Given the description of an element on the screen output the (x, y) to click on. 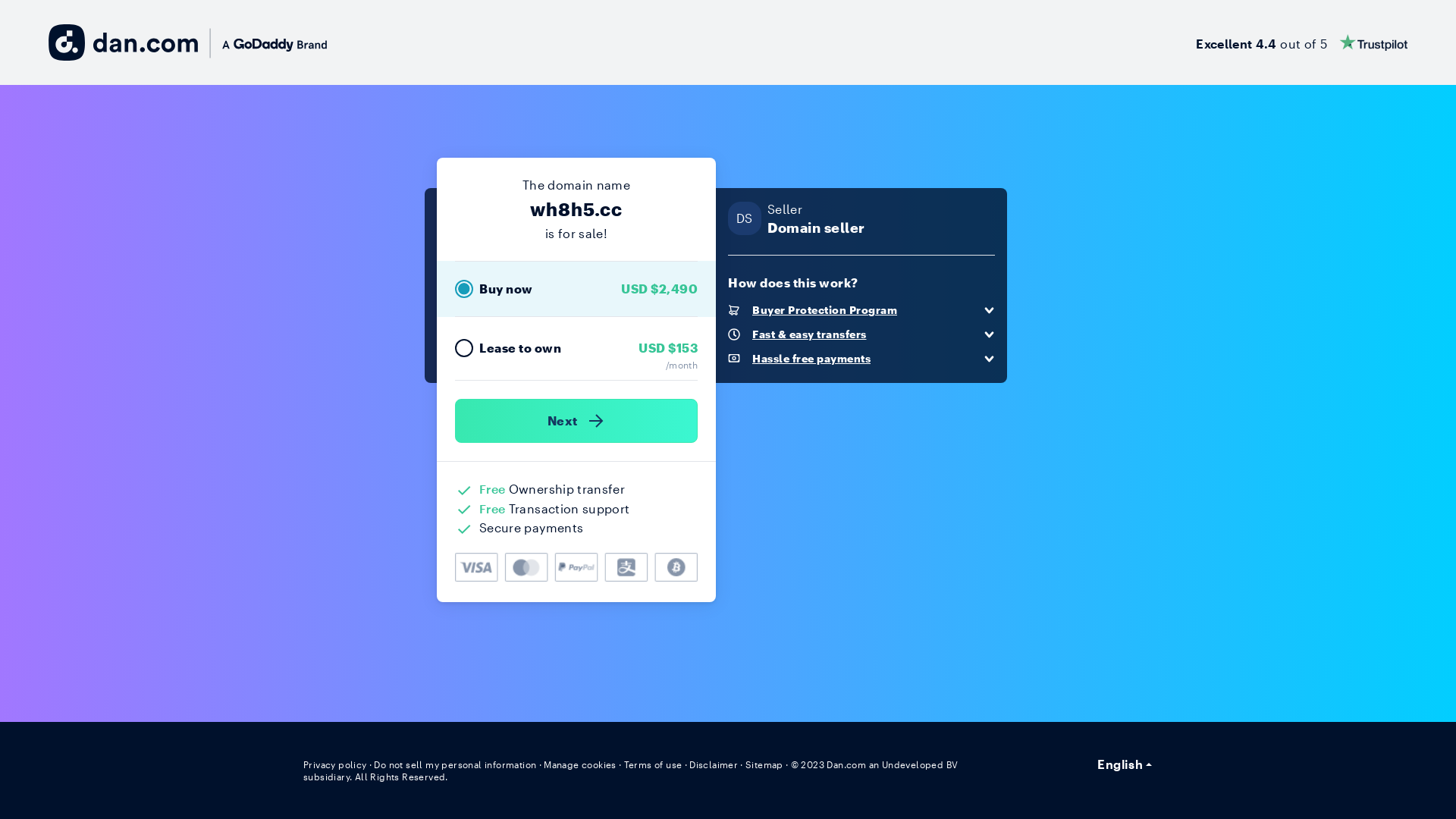
Do not sell my personal information Element type: text (454, 764)
Excellent 4.4 out of 5 Element type: text (1301, 42)
Sitemap Element type: text (764, 764)
Manage cookies Element type: text (579, 764)
Terms of use Element type: text (653, 764)
English Element type: text (1124, 764)
Disclaimer Element type: text (713, 764)
Privacy policy Element type: text (335, 764)
Next
) Element type: text (576, 420)
